Given the description of an element on the screen output the (x, y) to click on. 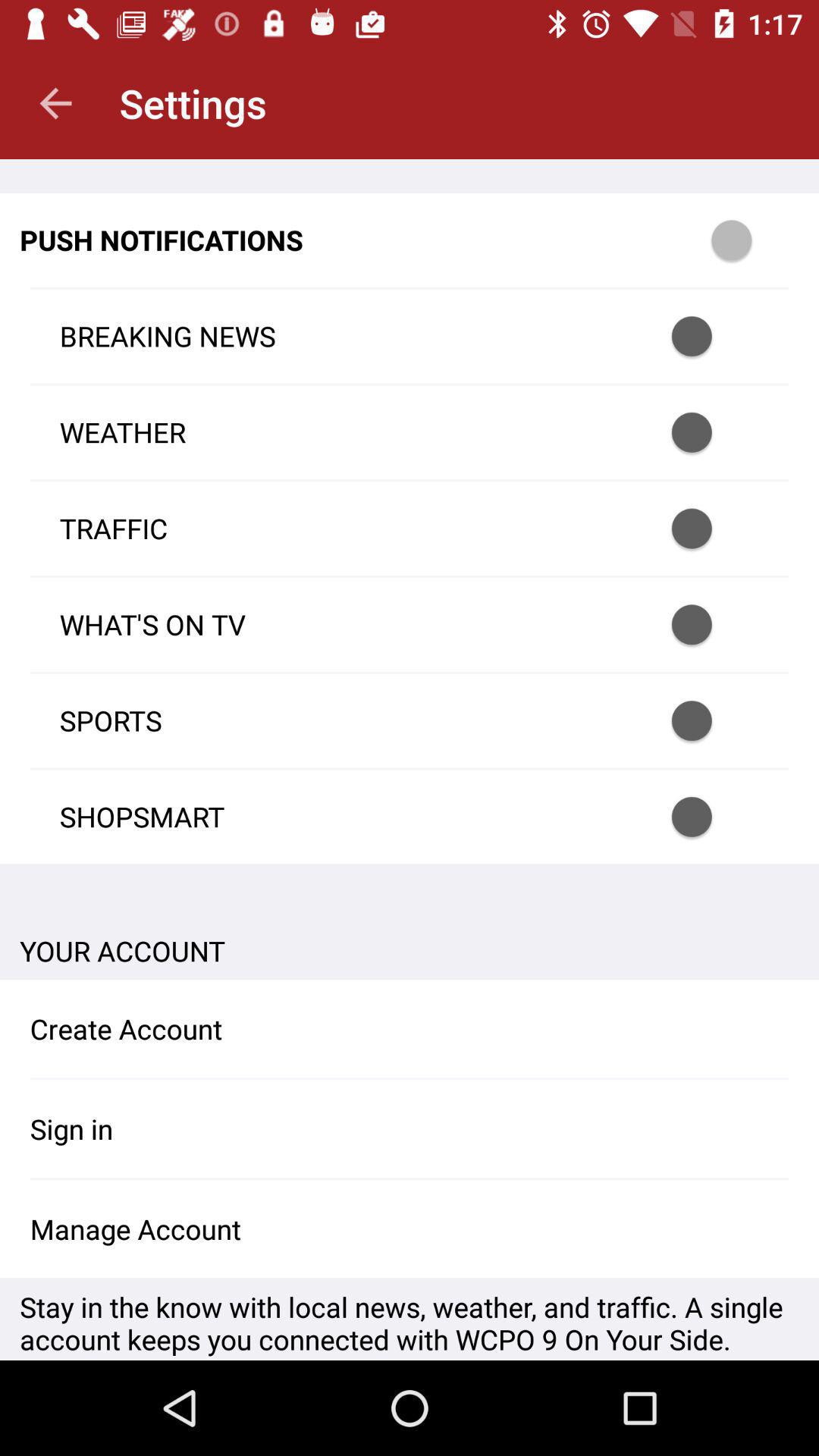
toggle push notifications option (751, 240)
